Given the description of an element on the screen output the (x, y) to click on. 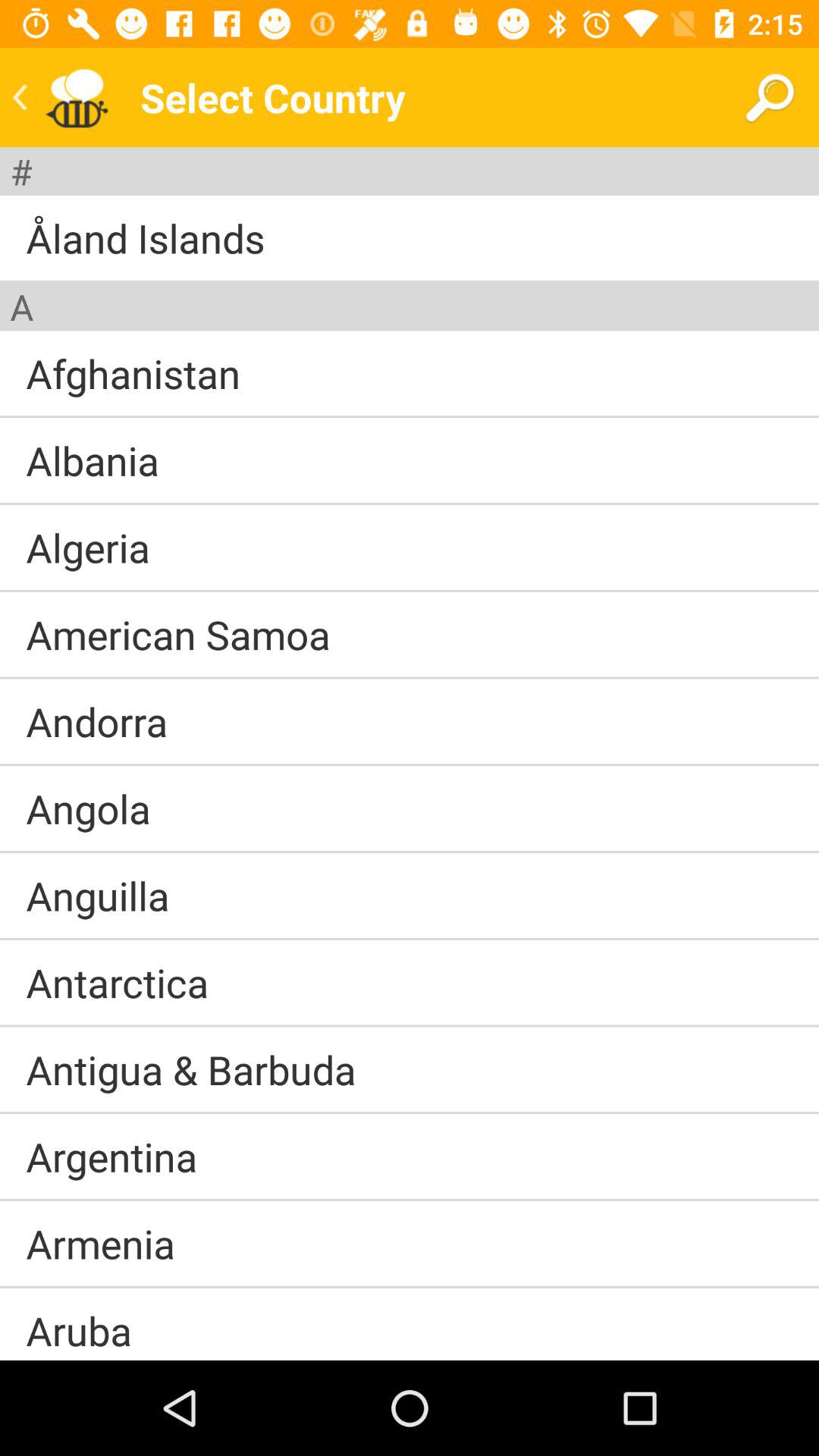
launch the item below argentina icon (409, 1199)
